Given the description of an element on the screen output the (x, y) to click on. 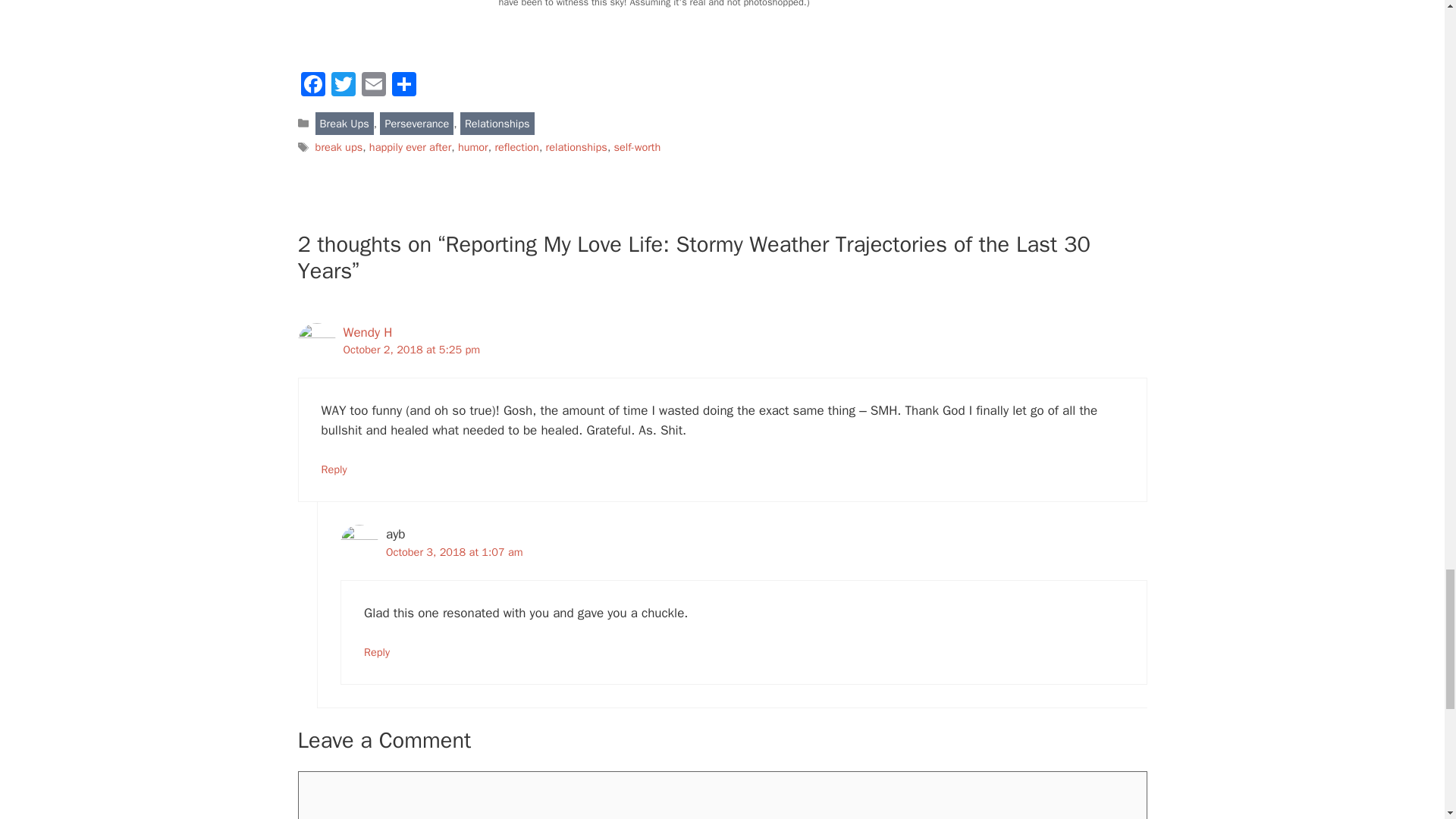
Facebook (312, 86)
Perseverance (416, 123)
Relationships (497, 123)
humor (472, 146)
Facebook (312, 86)
reflection (516, 146)
Break Ups (344, 123)
Twitter (342, 86)
Twitter (342, 86)
Email (373, 86)
Email (373, 86)
happily ever after (410, 146)
break ups (338, 146)
